Given the description of an element on the screen output the (x, y) to click on. 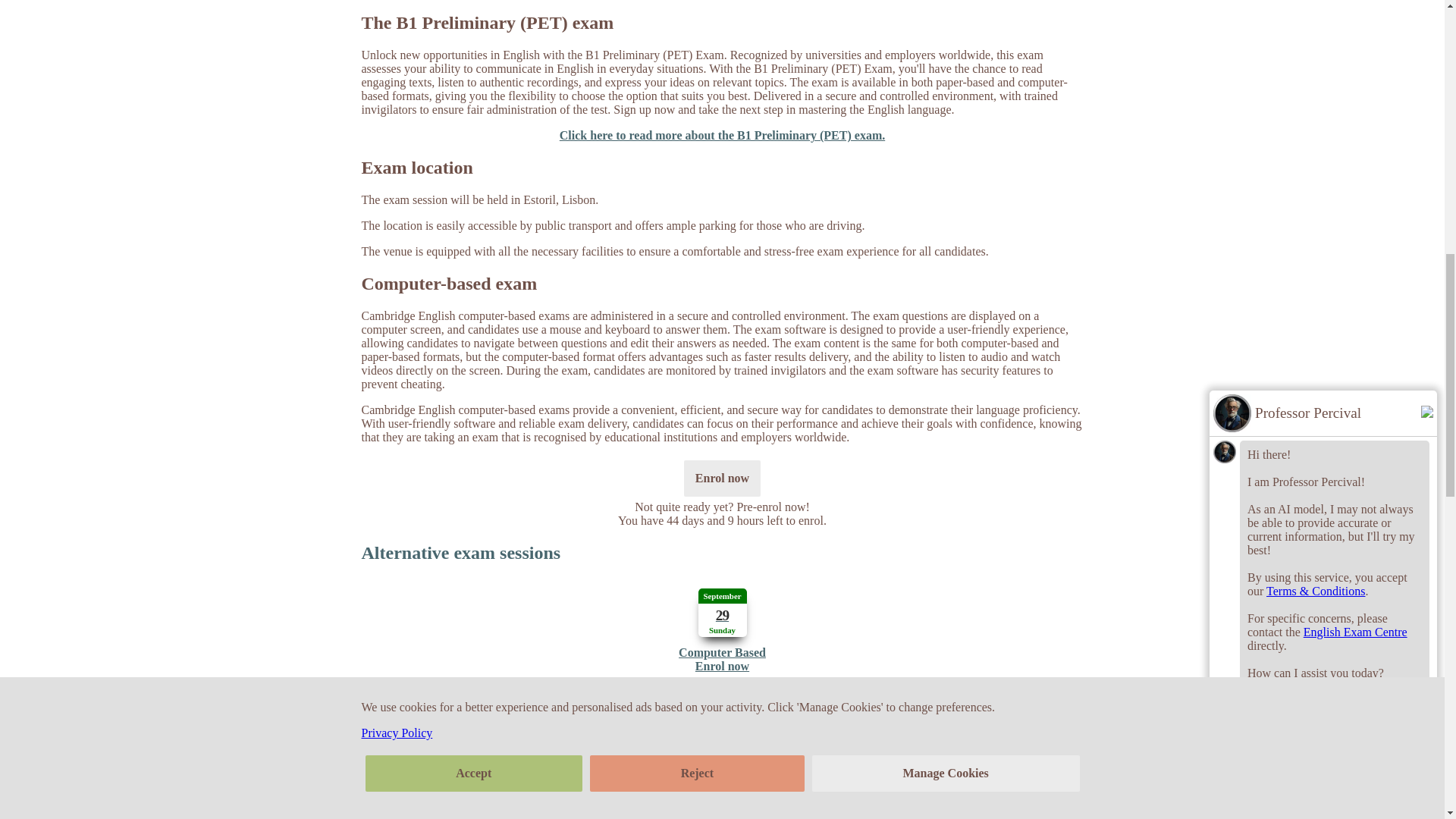
Own it! Level 3 Student's Book with Practice Extra (997, 779)
Alternative exam sessions (721, 626)
Own it! Level 4 Workbook with eBook (722, 552)
Essential Grammar in Use with Answers and Interactive eBook (1147, 779)
IELTS Booster Academic (570, 779)
